Given the description of an element on the screen output the (x, y) to click on. 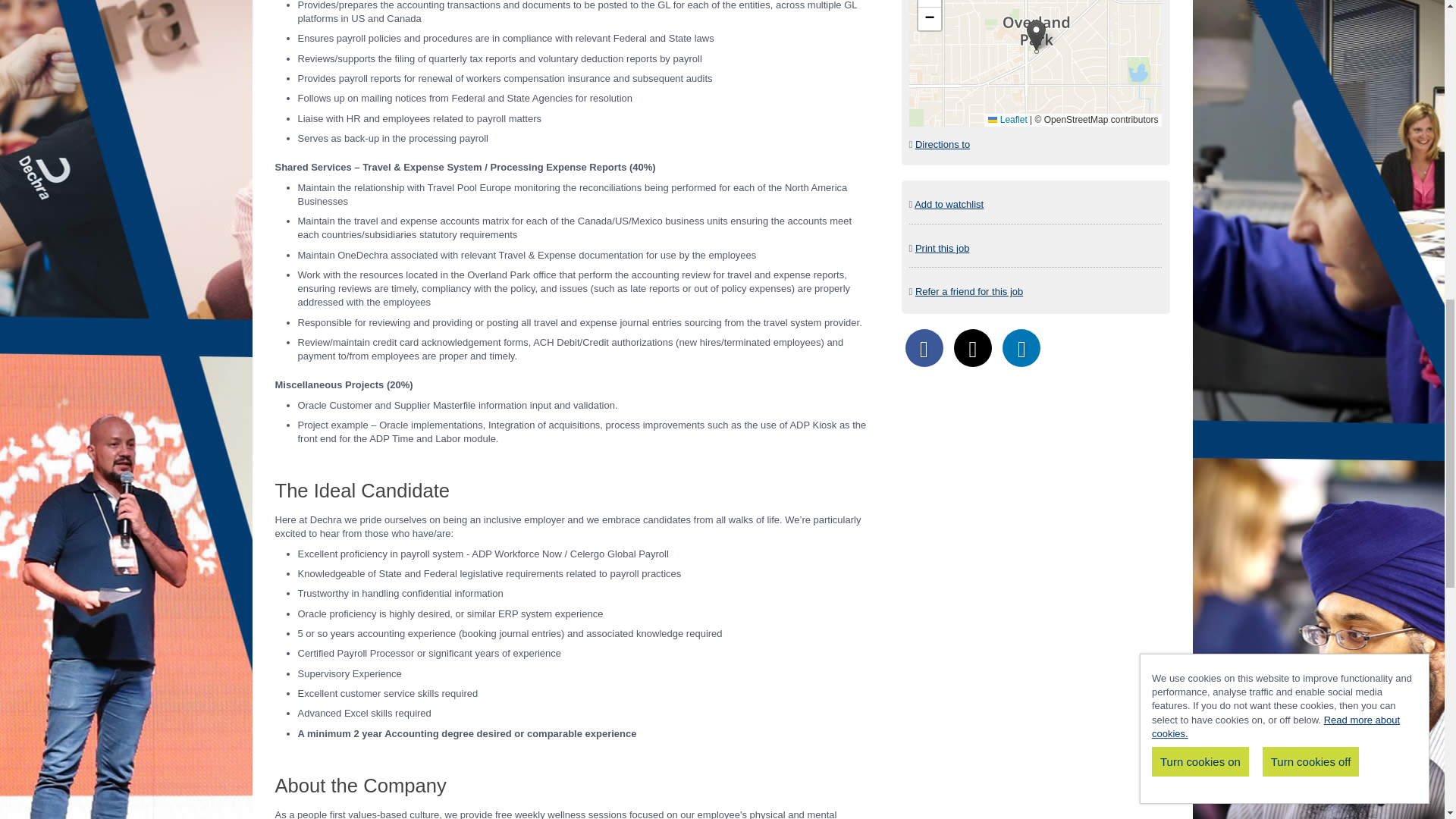
Leaflet (1007, 119)
Zoom in (929, 3)
A JavaScript library for interactive maps (1007, 119)
Print this job (942, 247)
Add to watchlist (949, 204)
Directions to (942, 143)
Zoom out (929, 18)
Refer a friend for this job (969, 291)
